Given the description of an element on the screen output the (x, y) to click on. 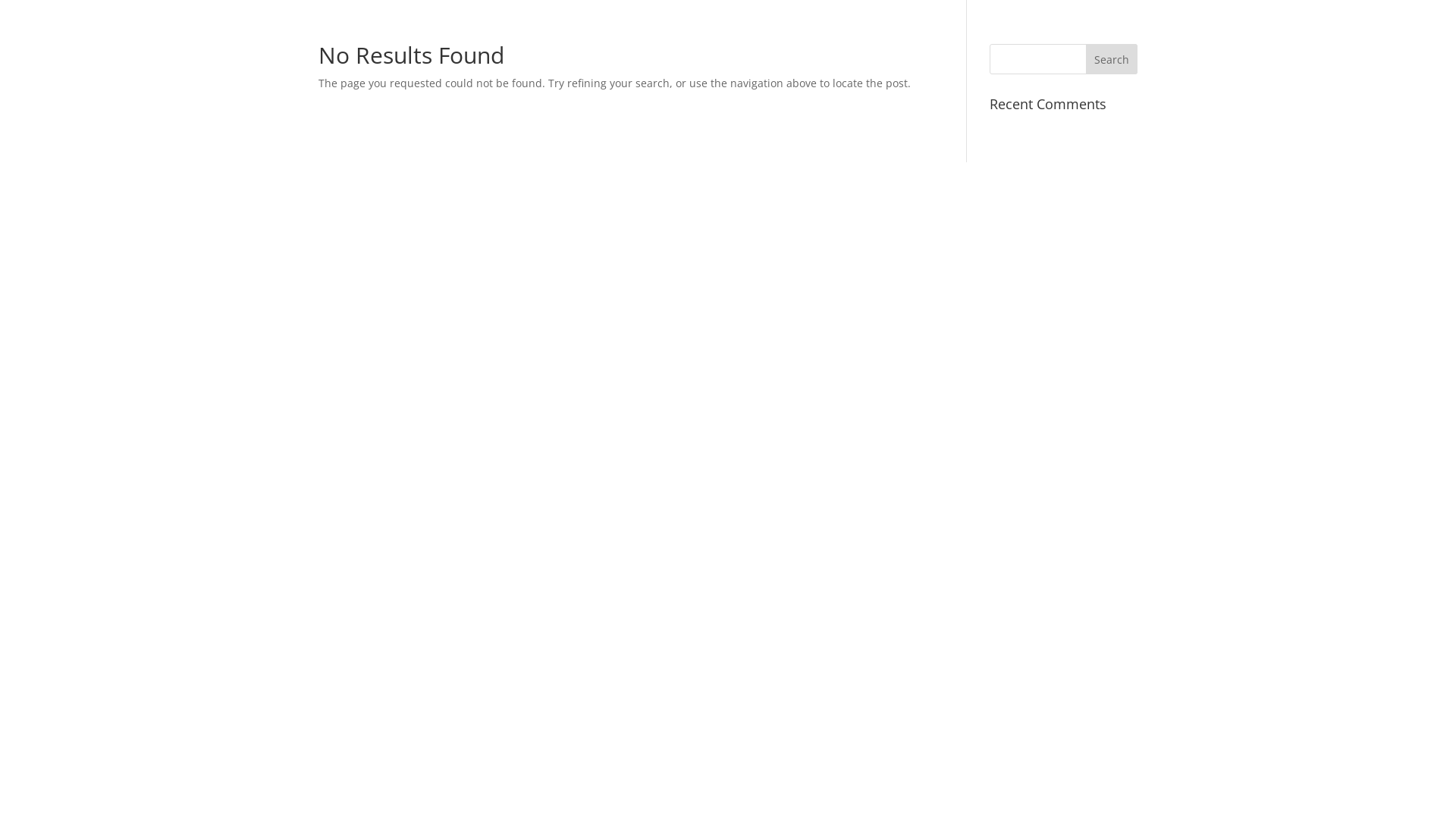
Search Element type: text (1111, 58)
